Given the description of an element on the screen output the (x, y) to click on. 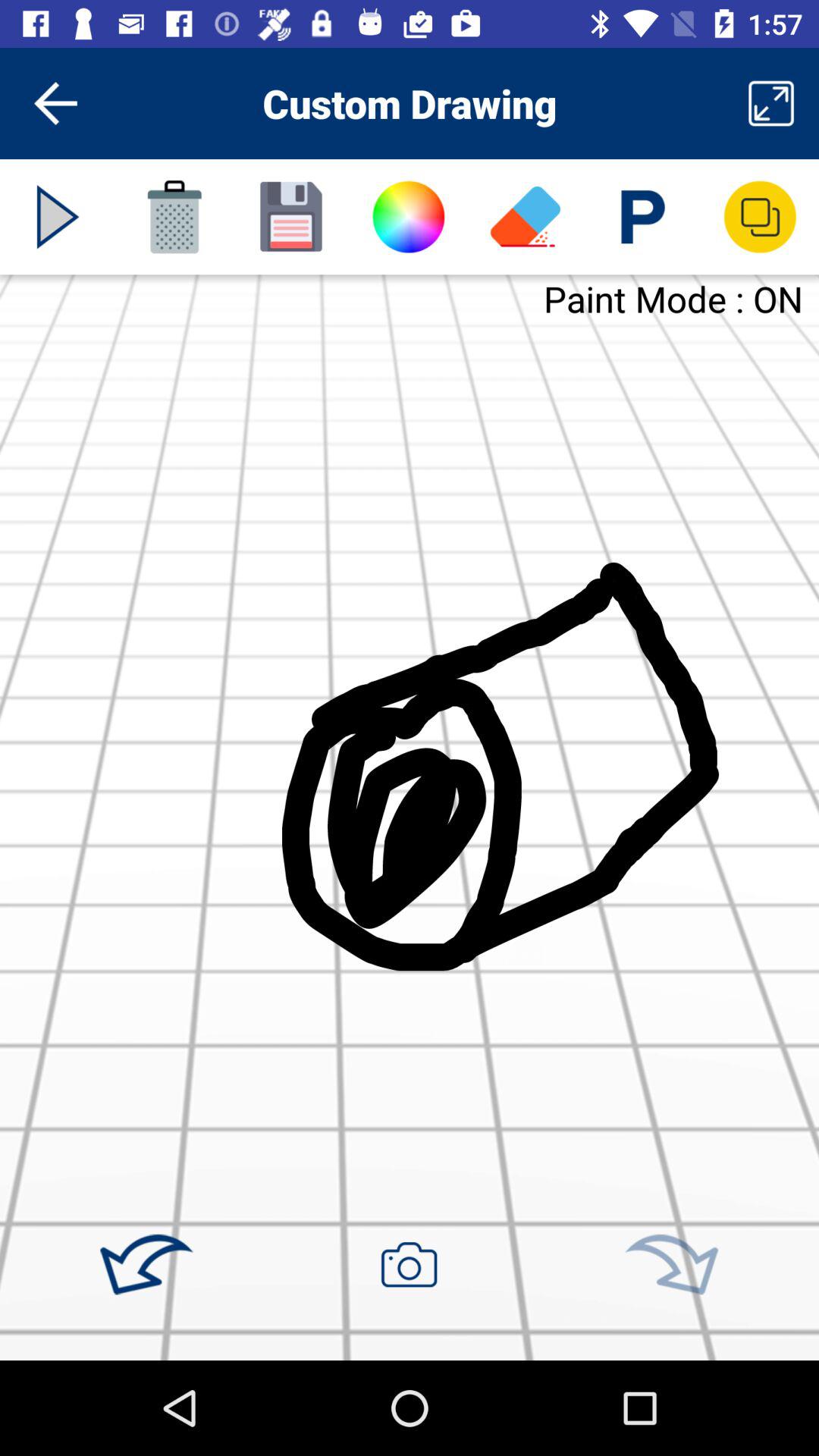
press the icon next to custom drawing item (55, 103)
